Given the description of an element on the screen output the (x, y) to click on. 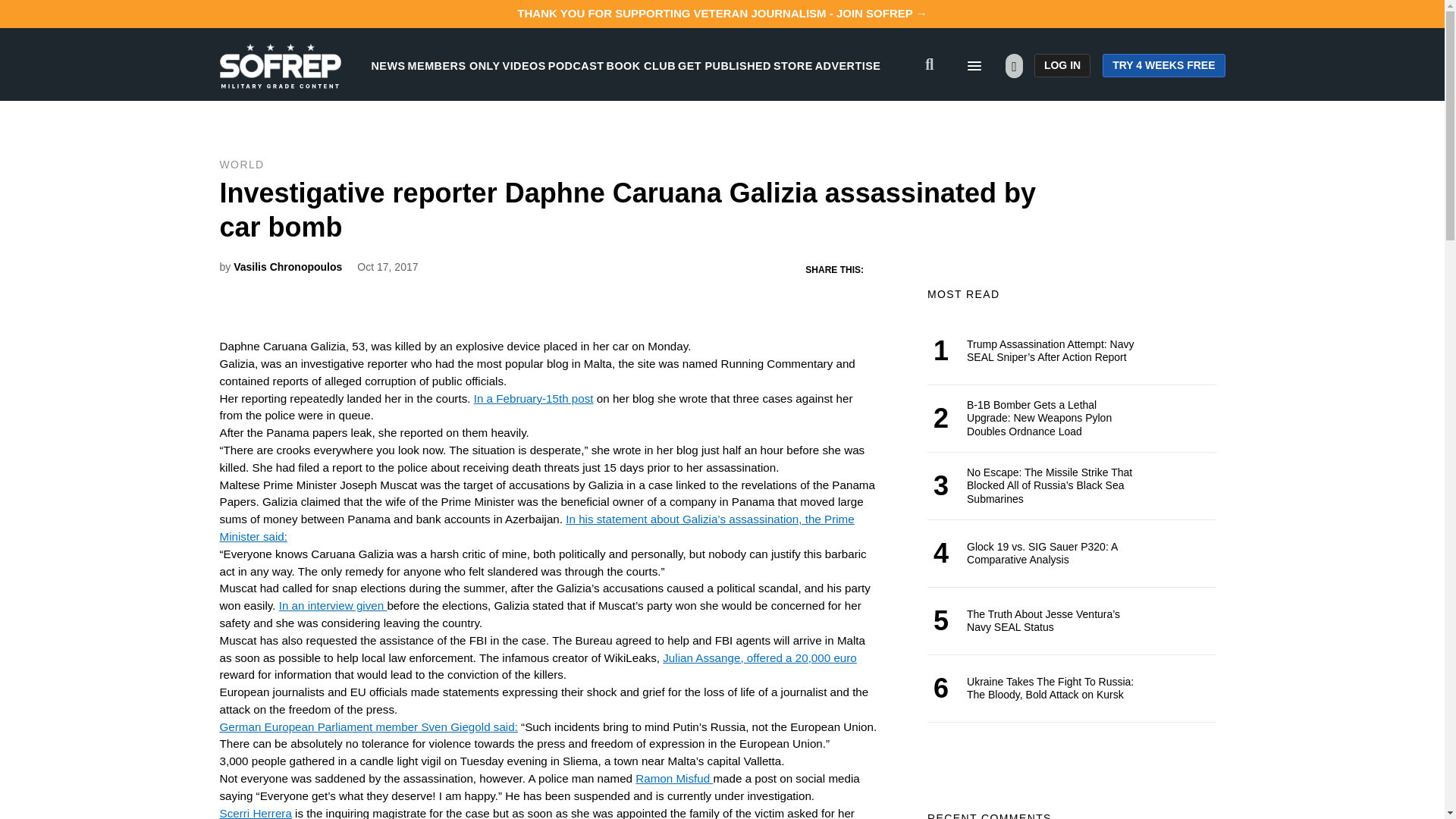
GET PUBLISHED (724, 65)
PODCAST (576, 65)
VIDEOS (524, 65)
MEMBERS ONLY (453, 65)
TRY 4 WEEKS FREE (1163, 65)
ADVERTISE (847, 65)
NEWS (388, 65)
BOOK CLUB (641, 65)
STORE (792, 65)
LOG IN (1061, 65)
